Given the description of an element on the screen output the (x, y) to click on. 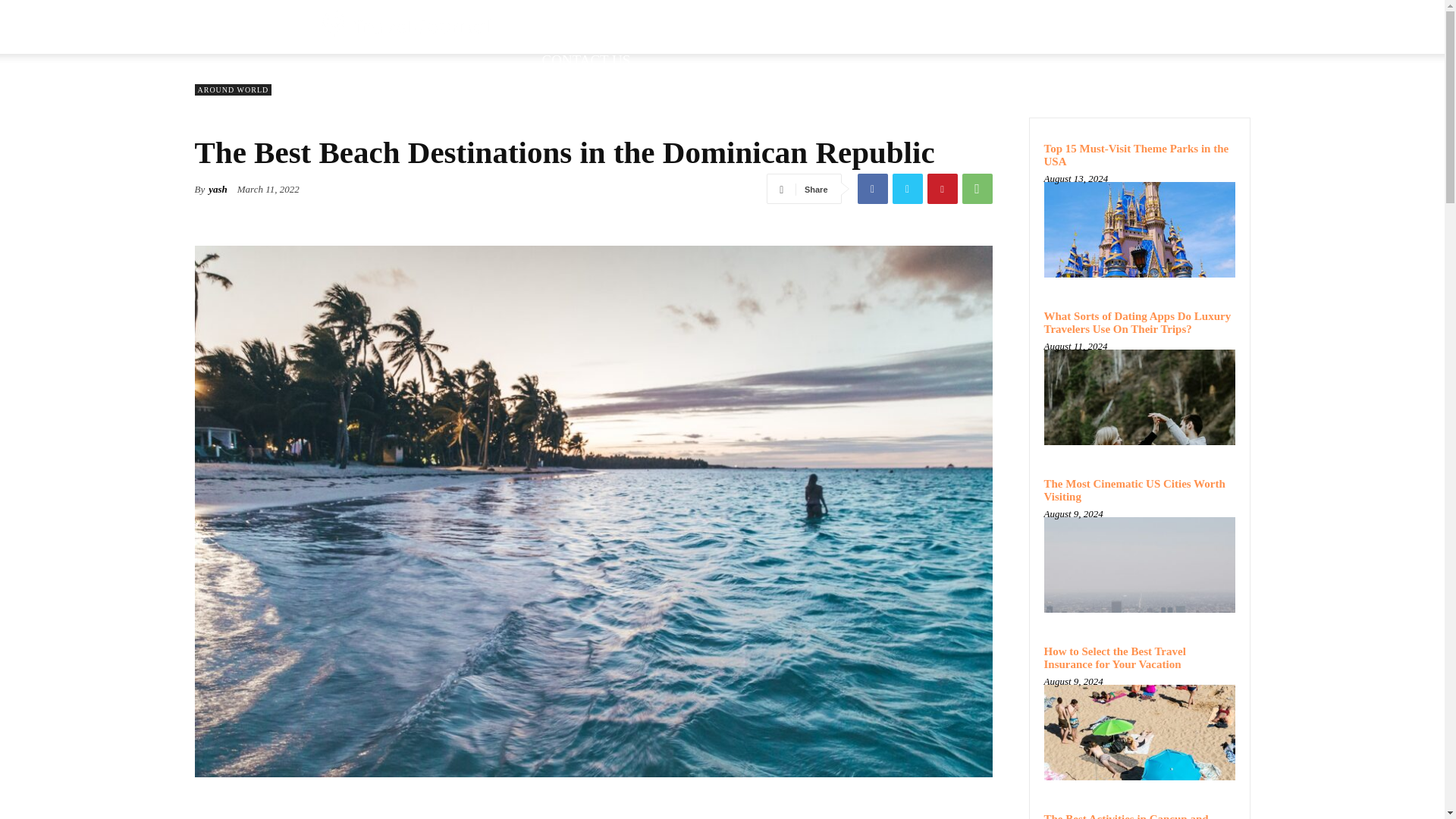
Search (1085, 82)
CONTACT US (585, 60)
yash (217, 189)
AROUND WORLD (231, 89)
TRAVEL (803, 20)
TRIPS (995, 20)
traveljournalmag (407, 25)
FEATURED (717, 20)
WhatsApp (975, 188)
